Given the description of an element on the screen output the (x, y) to click on. 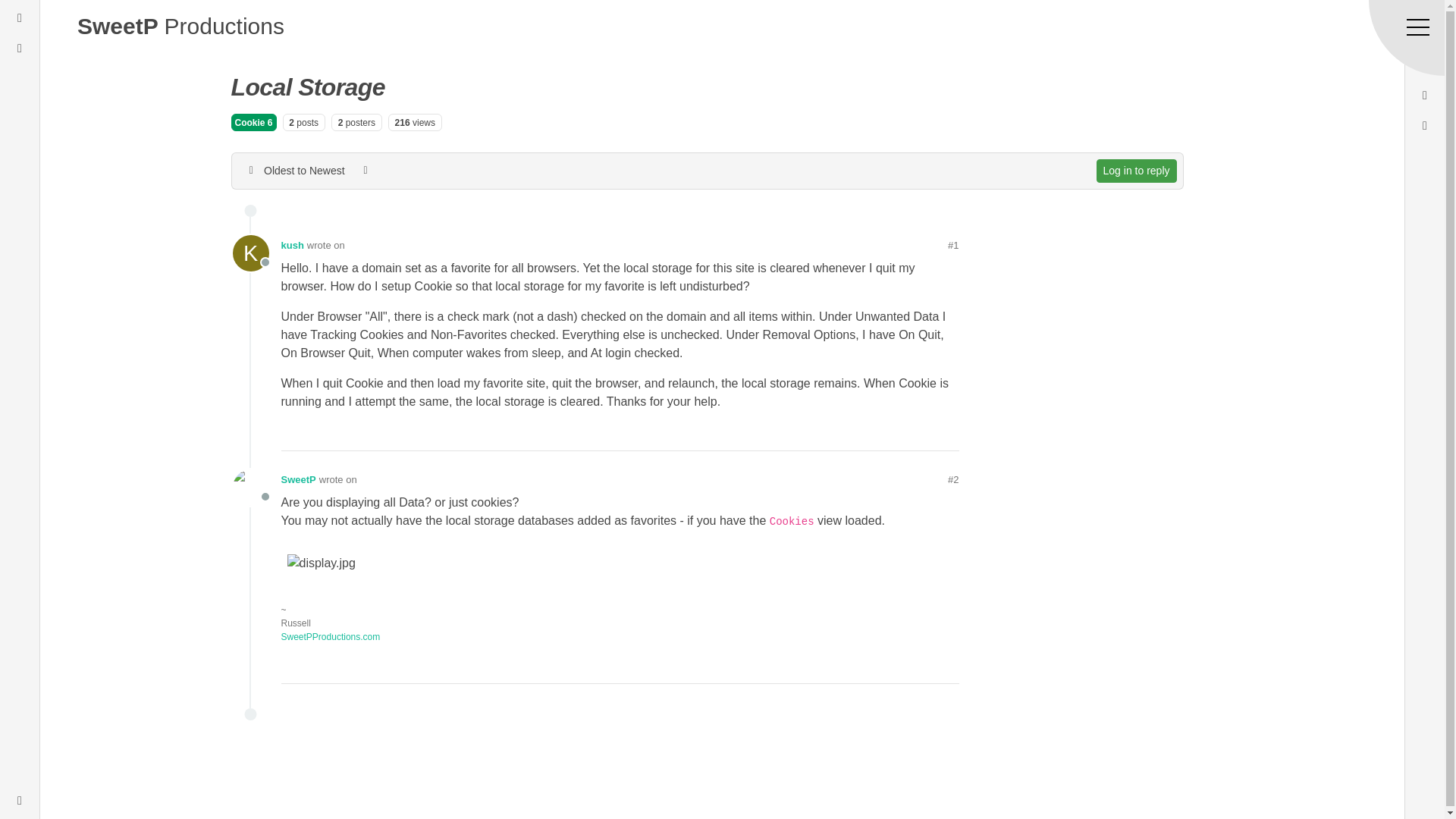
SweetPProductions.com (330, 636)
kush (249, 253)
Oldest to Newest (295, 169)
216 (402, 122)
Recent (19, 48)
SweetP (298, 479)
Expand (19, 800)
Log in to reply (1136, 170)
Categories (19, 17)
